Given the description of an element on the screen output the (x, y) to click on. 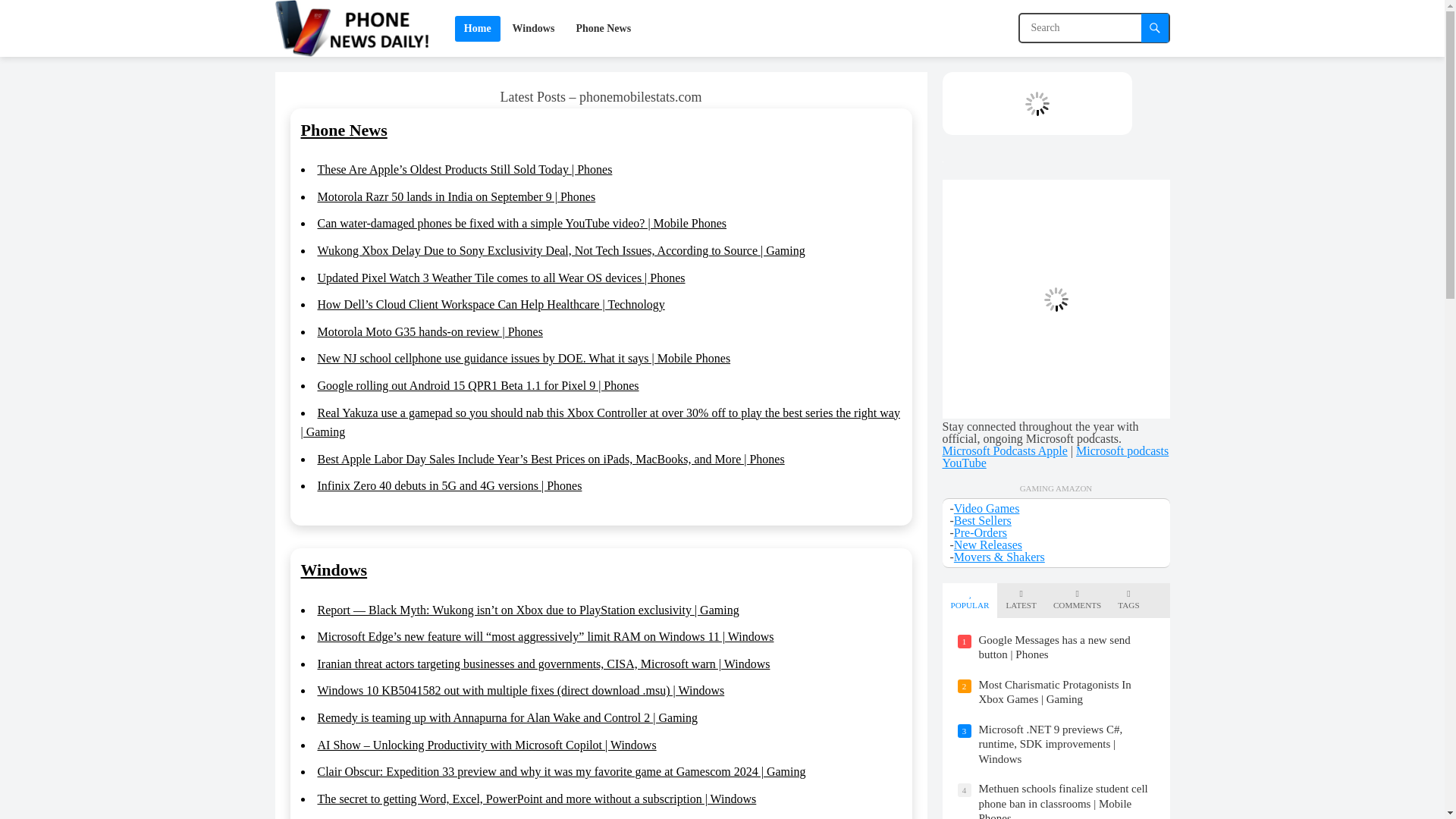
YouTube video player (1055, 298)
Apple Music Latest (1036, 103)
Popular (970, 599)
Latest (1020, 599)
Phone News (343, 129)
Windows (533, 28)
Video Games Amazon (986, 508)
Official, ongoing Microsoft podcasts via YouTube. (1055, 456)
New Releases Video Games Amazon (987, 544)
Official, ongoing Microsoft podcasts via Apple. (1004, 450)
